Given the description of an element on the screen output the (x, y) to click on. 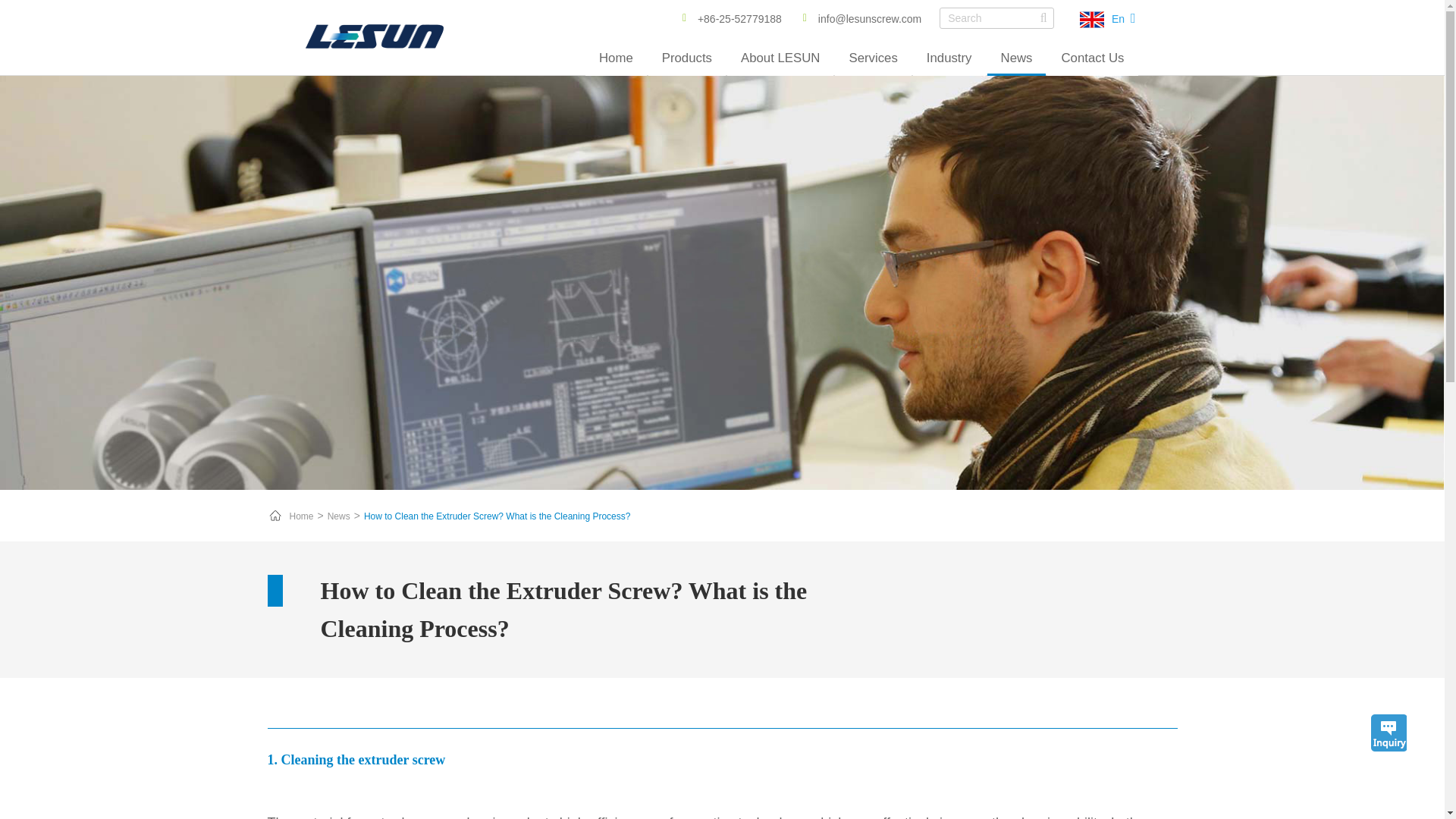
En (1116, 19)
Home (615, 59)
submit (1043, 17)
Products (686, 59)
NANJING LESUN SCREW CO.,LTD (373, 36)
